Given the description of an element on the screen output the (x, y) to click on. 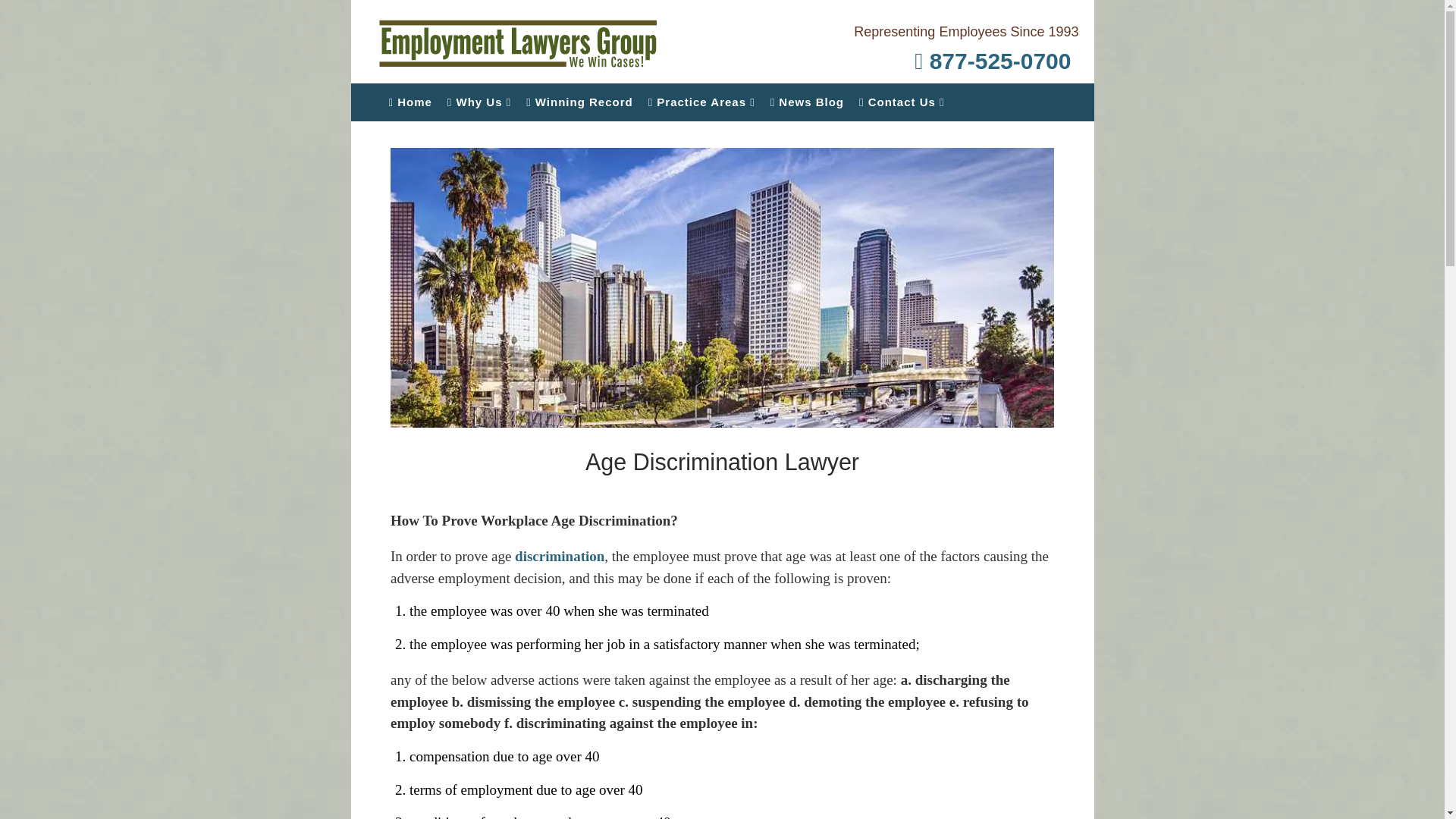
Winning Record (579, 102)
employment lawyers group (533, 40)
877-525-0700 (965, 61)
Home (409, 102)
Why Us (478, 102)
Los Angeles Discrimination Attorney (559, 555)
Practice Areas (701, 102)
